Given the description of an element on the screen output the (x, y) to click on. 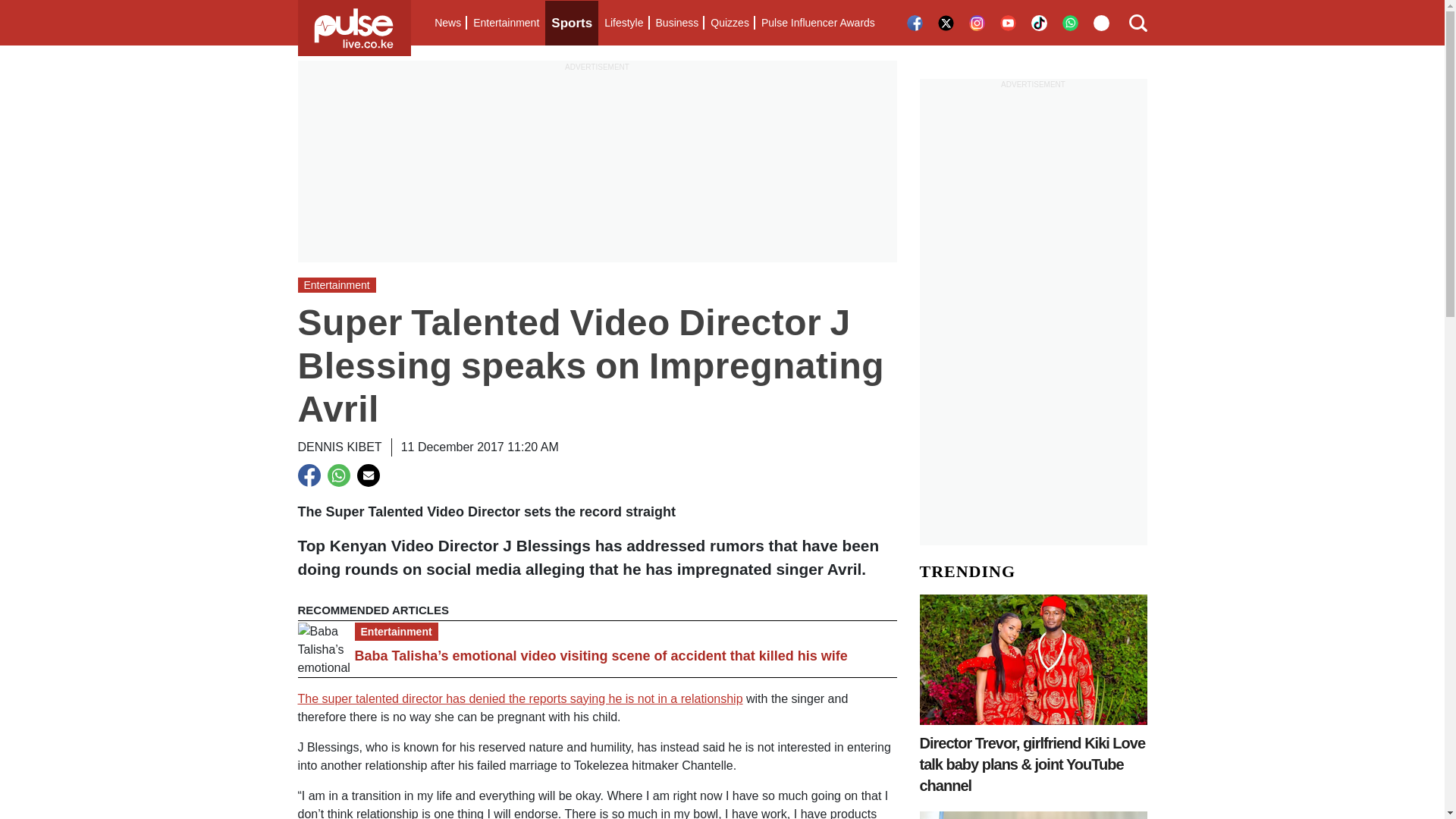
Quizzes (729, 22)
Entertainment (505, 22)
Business (676, 22)
Lifestyle (623, 22)
Sports (571, 22)
Pulse Influencer Awards (817, 22)
